Given the description of an element on the screen output the (x, y) to click on. 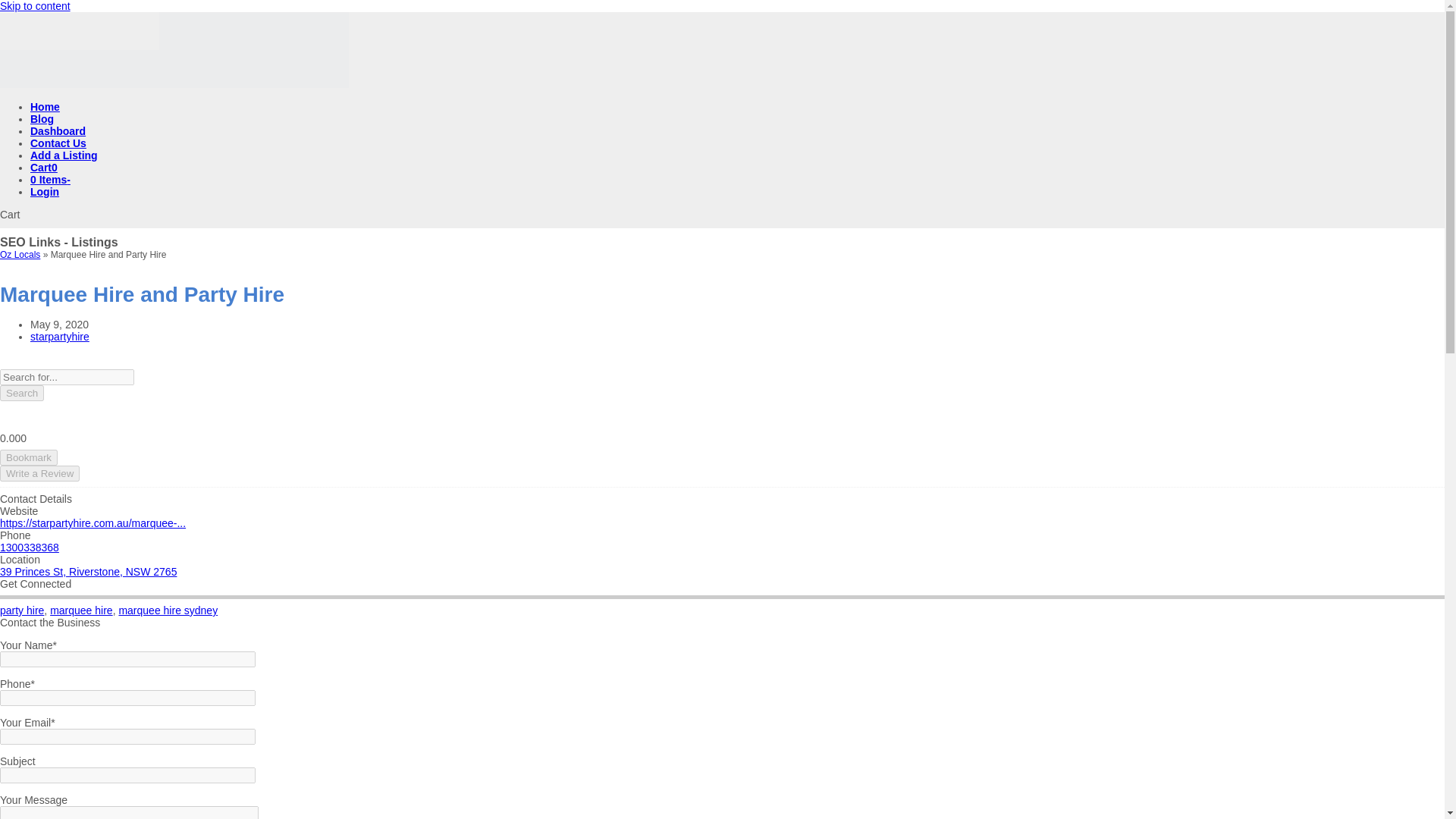
0 Items- (49, 179)
marquee hire sydney (166, 610)
Login (44, 191)
starpartyhire (59, 336)
1300338368 (29, 547)
Login (44, 191)
Write a Review (40, 473)
party hire (21, 610)
Oz Locals (20, 254)
Dashboard (57, 131)
marquee hire (81, 610)
Add a Listing (63, 155)
Blog (41, 119)
39 Princes St, Riverstone, NSW 2765 (88, 571)
marquee hire (81, 610)
